Given the description of an element on the screen output the (x, y) to click on. 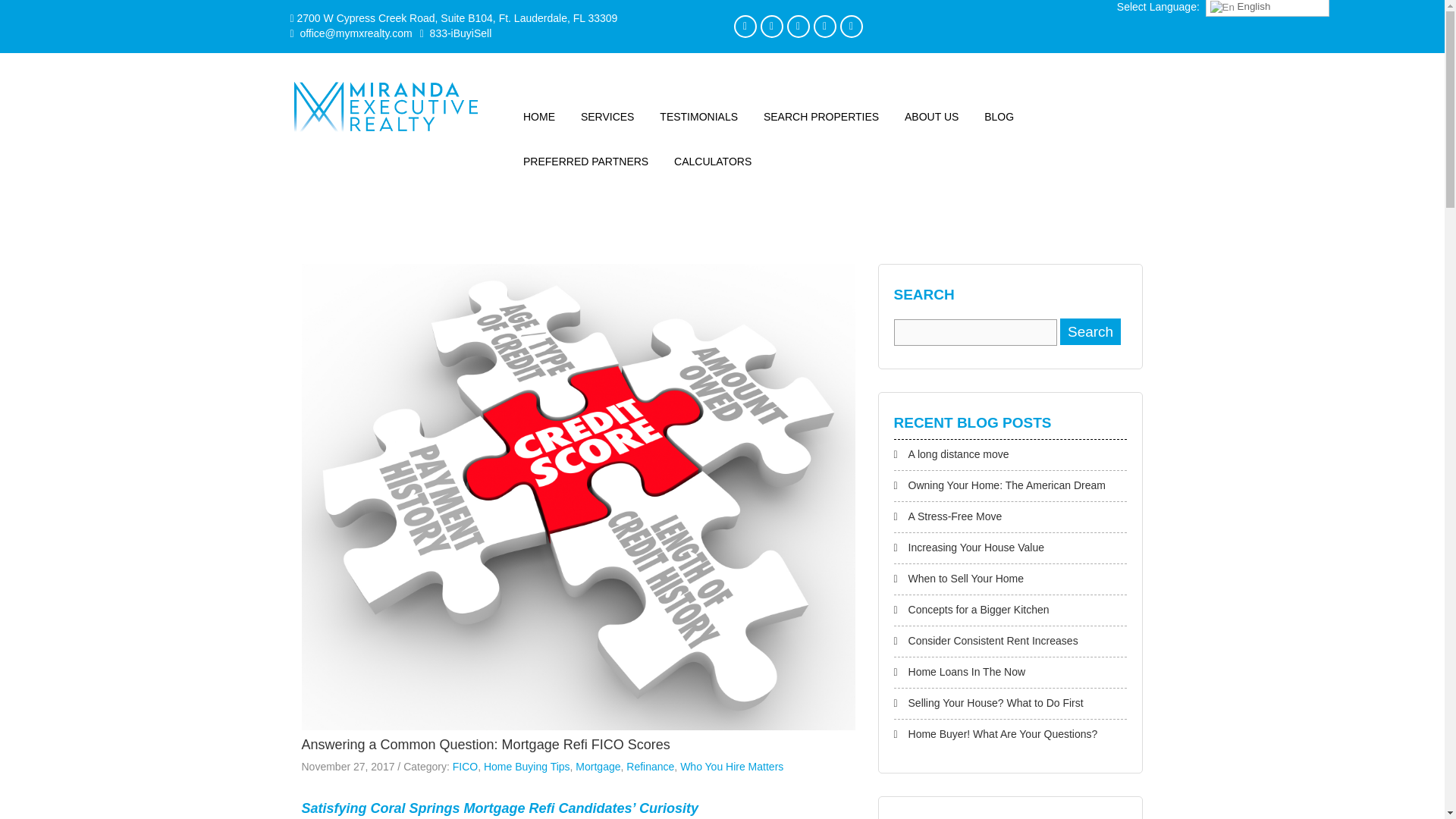
TESTIMONIALS (698, 117)
BLOG (998, 117)
 833-iBuyiSell (456, 33)
Refinance (650, 766)
PREFERRED PARTNERS (585, 161)
SEARCH PROPERTIES (820, 117)
SERVICES (607, 117)
Mortgage (597, 766)
Who You Hire Matters (731, 766)
Search (1090, 331)
CALCULATORS (712, 161)
FICO (464, 766)
Owning Your Home: The American Dream (1006, 485)
Home Buying Tips (526, 766)
